Given the description of an element on the screen output the (x, y) to click on. 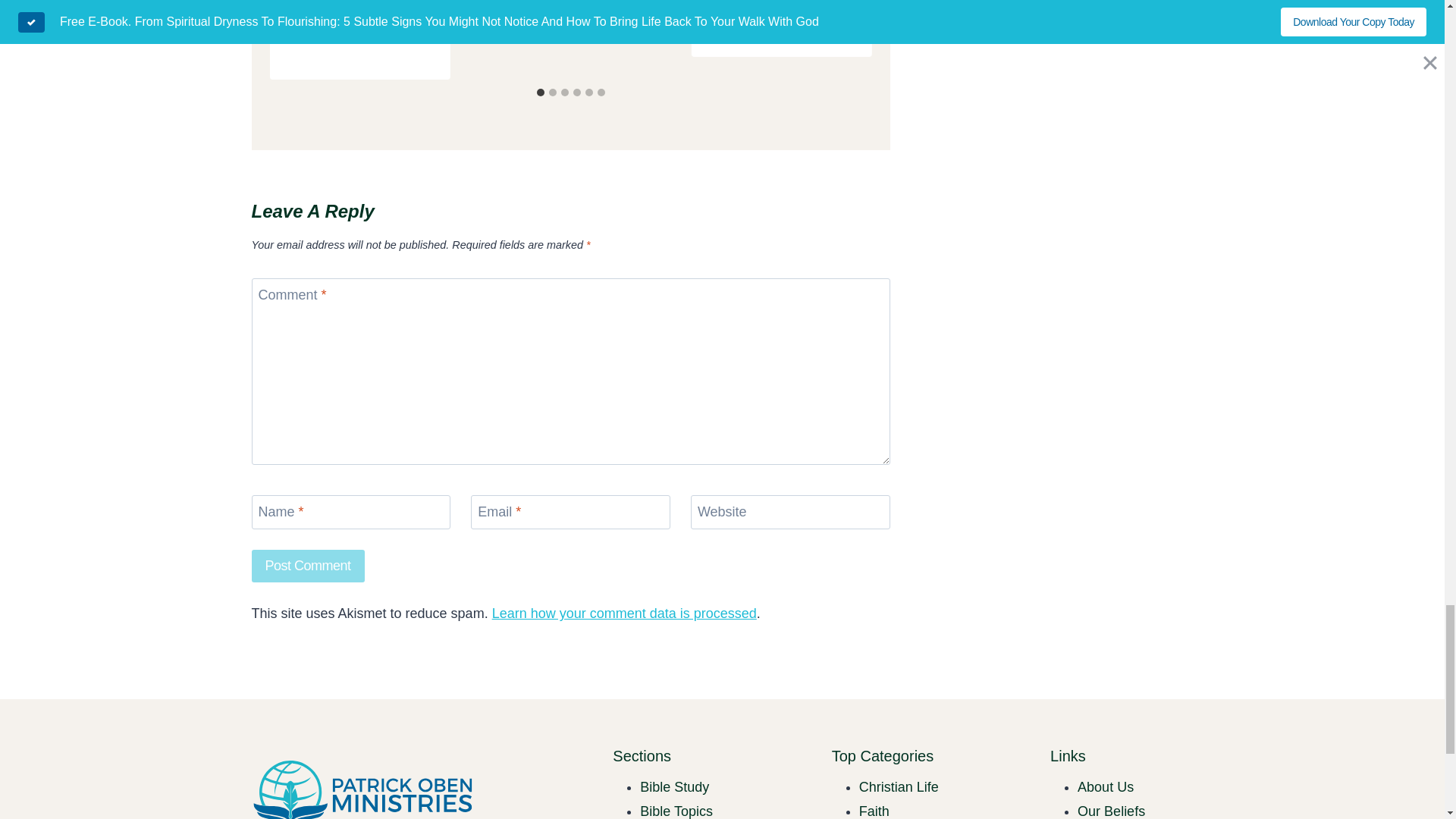
Post Comment (308, 565)
